Given the description of an element on the screen output the (x, y) to click on. 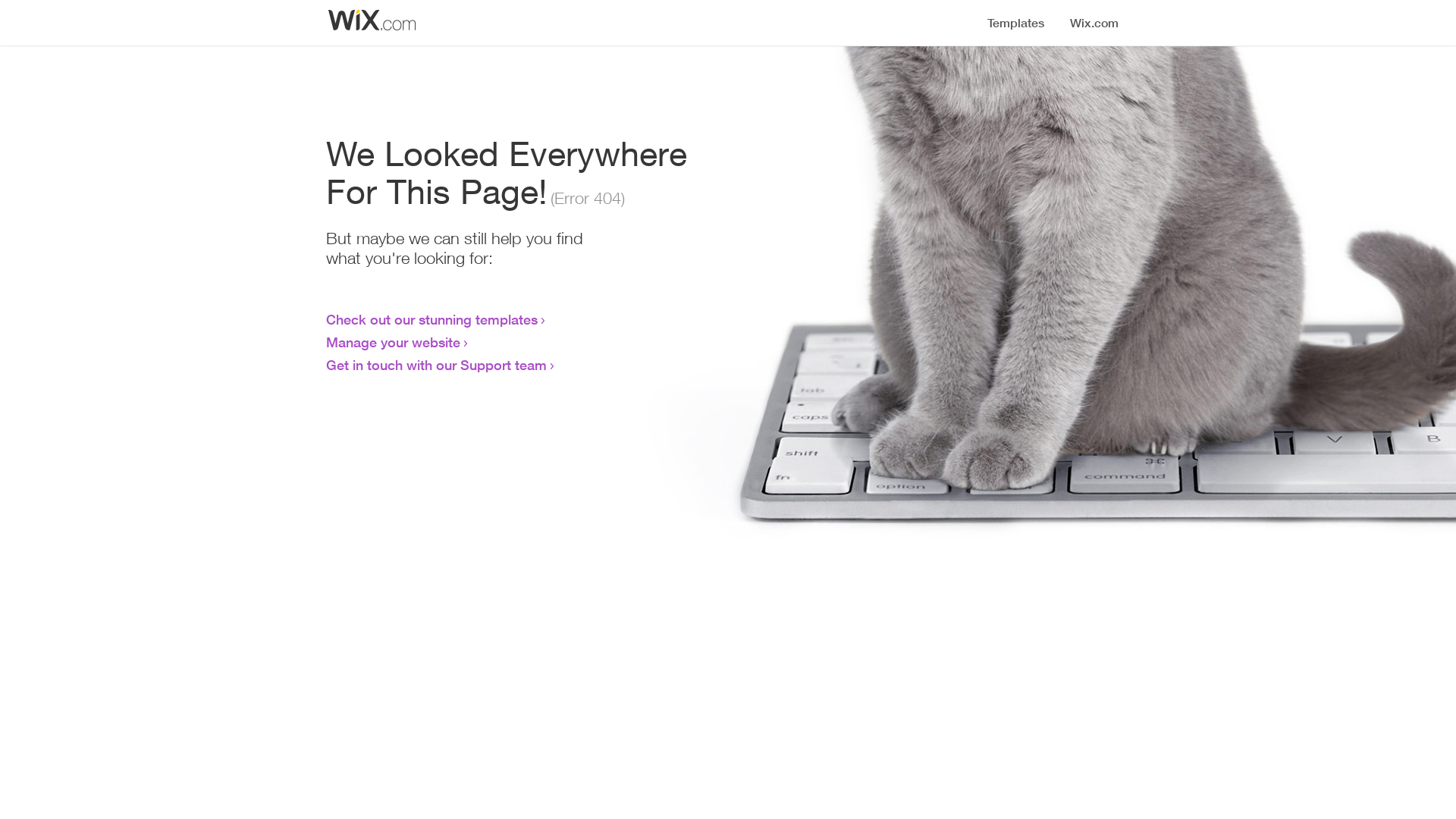
Get in touch with our Support team Element type: text (436, 364)
Check out our stunning templates Element type: text (431, 318)
Manage your website Element type: text (393, 341)
